Given the description of an element on the screen output the (x, y) to click on. 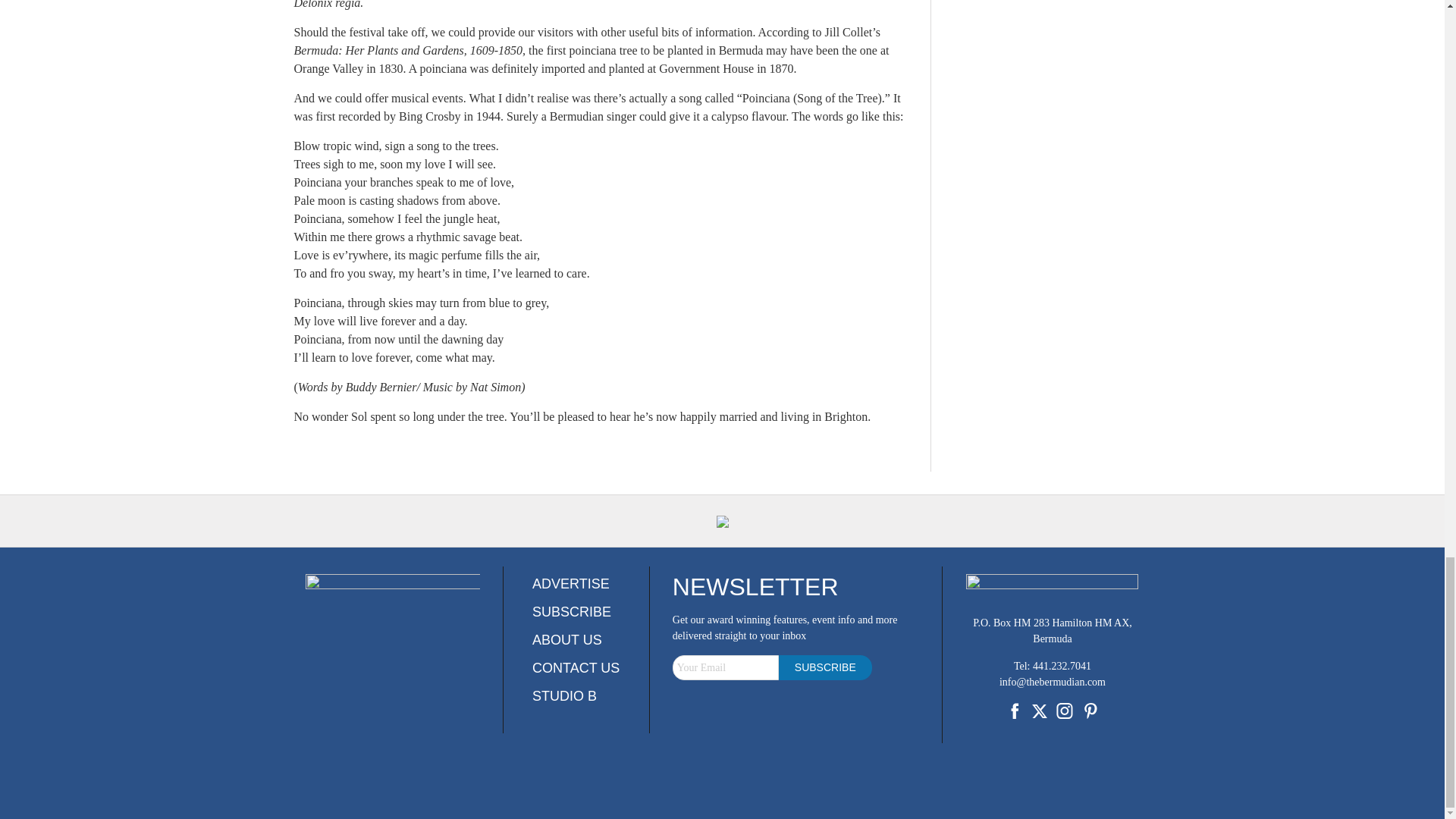
SUBSCRIBE (571, 611)
ADVERTISE (571, 583)
ABOUT US (567, 639)
